Given the description of an element on the screen output the (x, y) to click on. 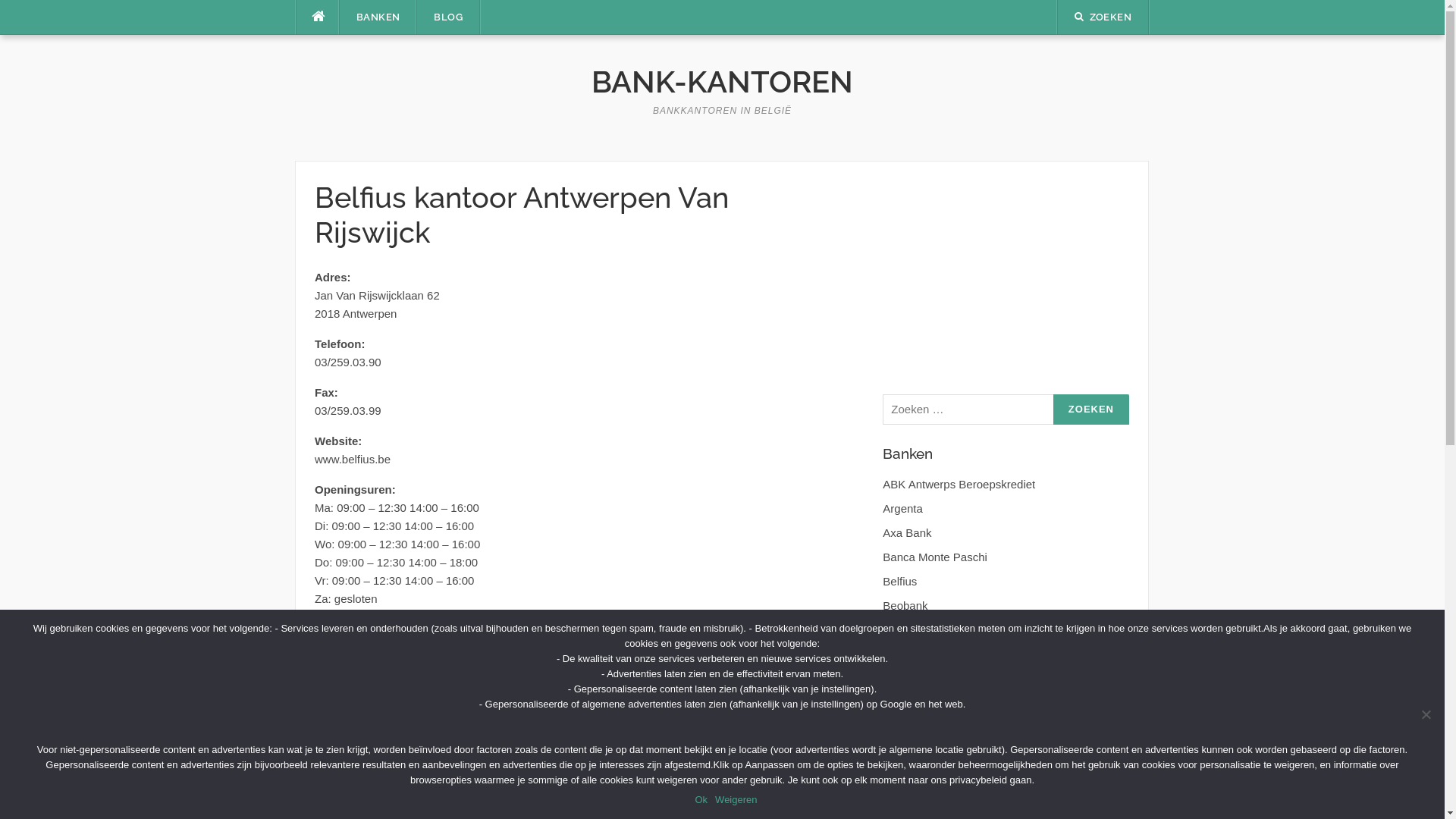
BNP Paribas Fortis Element type: text (930, 653)
Delen Private Bank Element type: text (930, 774)
CPH Bank Element type: text (908, 726)
Banca Monte Paschi Element type: text (934, 556)
Crelan Element type: text (899, 750)
Weigeren Element type: text (735, 799)
BKCP Bank Element type: text (912, 629)
Belfius kantoor Noorderwijk Element type: text (768, 747)
Argenta Element type: text (902, 508)
bpost bank Element type: text (910, 677)
BANK-KANTOREN Element type: text (722, 81)
Delta Lloyd Element type: text (910, 799)
Axa Bank Element type: text (906, 532)
Zoeken Element type: text (1091, 409)
Advertisement Element type: hover (996, 275)
Beobank Element type: text (904, 605)
Weigeren Element type: hover (1425, 713)
BLOG Element type: text (448, 17)
Antwerpen Element type: text (390, 690)
Belfius kantoor Oudenaarde Element type: text (390, 747)
Belfius Element type: text (442, 690)
Belfius Element type: text (899, 580)
ZOEKEN Element type: text (1102, 16)
Belfius Element type: text (419, 667)
BANKEN Element type: text (377, 17)
CBC bank Element type: text (908, 702)
Ok Element type: text (700, 799)
ABK Antwerps Beroepskrediet Element type: text (958, 483)
